Given the description of an element on the screen output the (x, y) to click on. 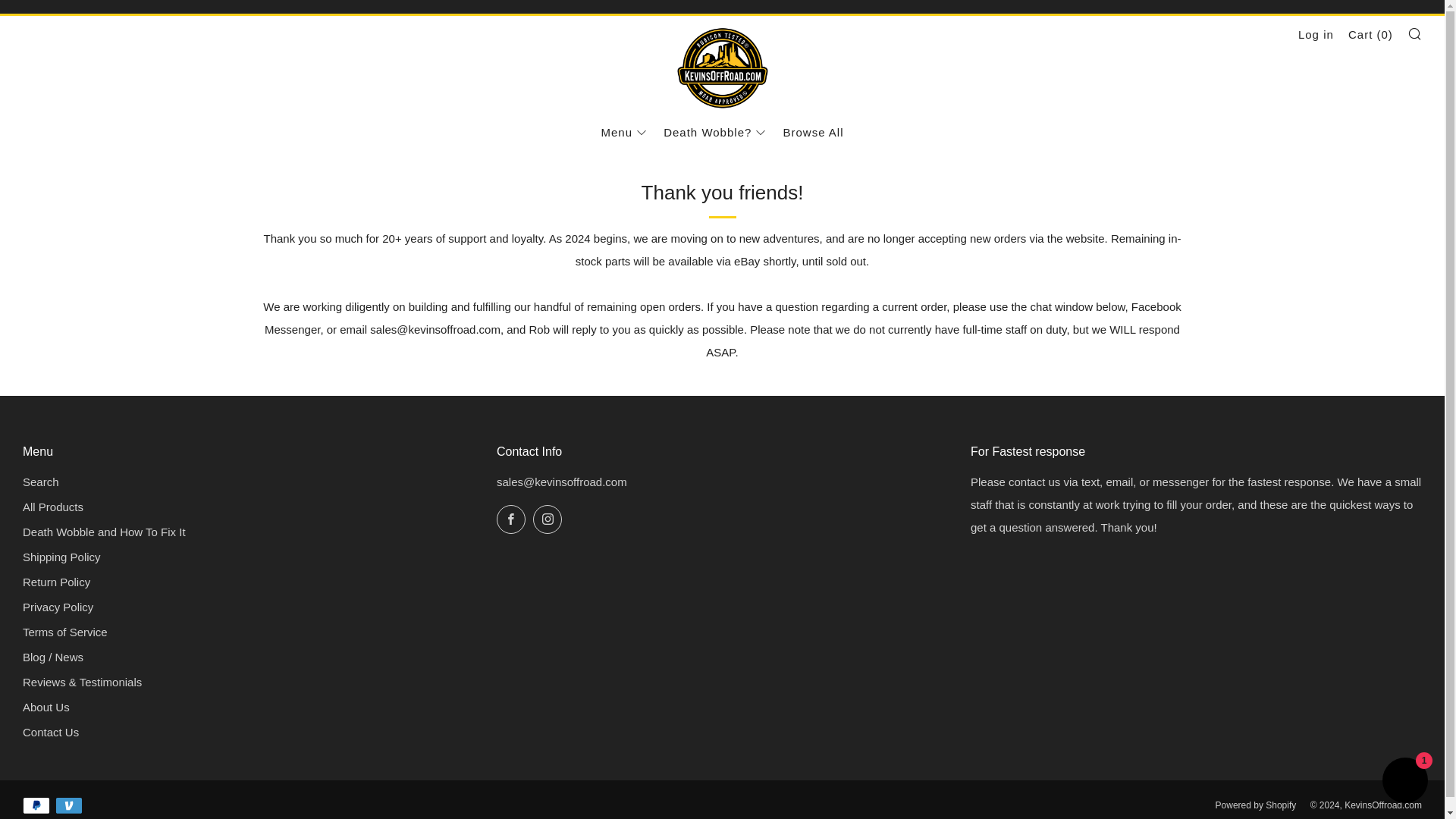
Privacy Policy (58, 606)
Death Wobble? (714, 132)
Terms of Service (65, 631)
Facebook (510, 519)
All Products (52, 506)
Return Policy (56, 581)
Shopify online store chat (1404, 781)
Browse All (813, 132)
About Us (46, 707)
Menu (622, 132)
Shipping Policy (61, 556)
Venmo (68, 804)
Search (41, 481)
Search (1414, 33)
Contact Us (50, 731)
